Given the description of an element on the screen output the (x, y) to click on. 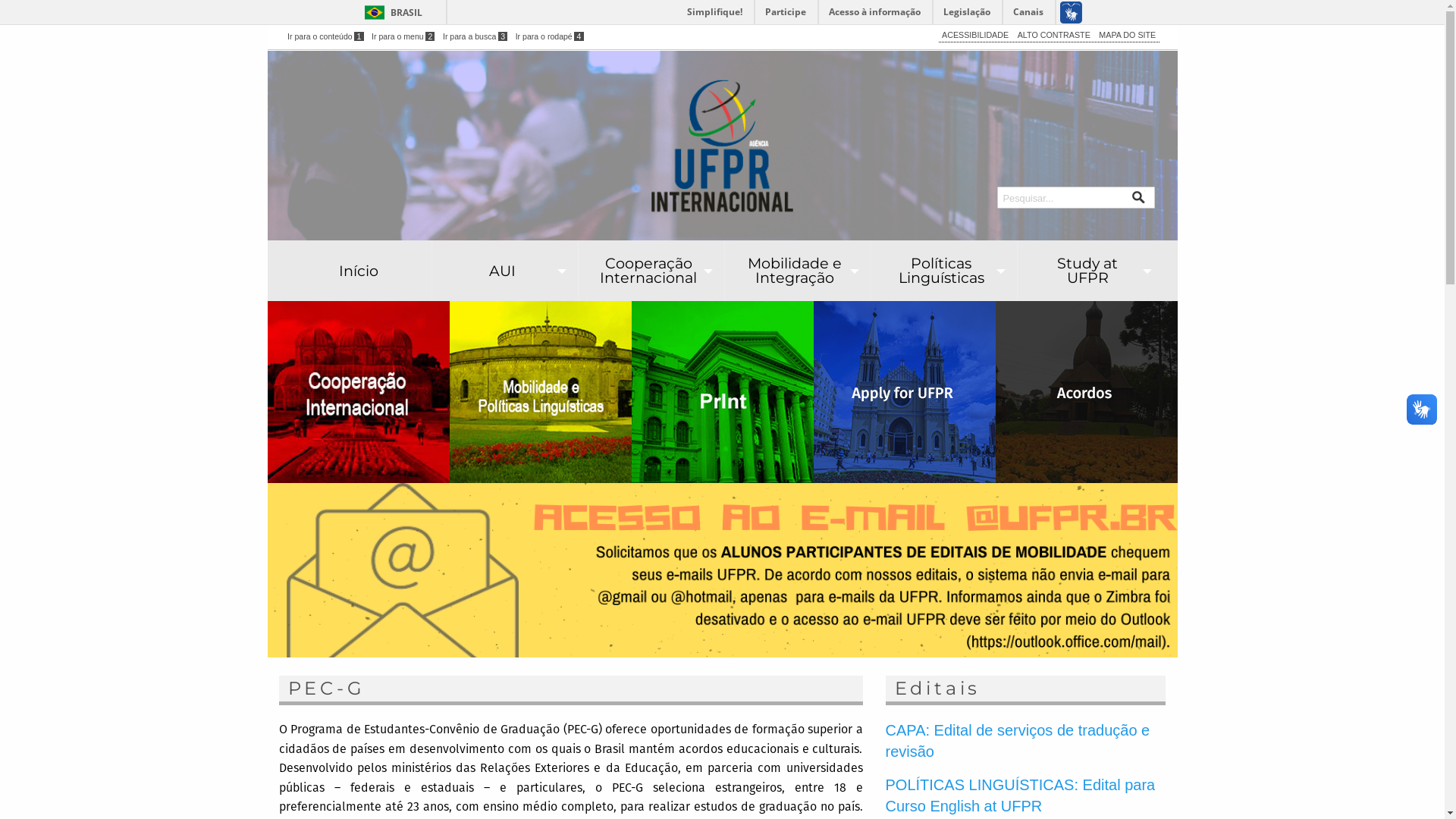
AUI Element type: text (505, 270)
BRASIL Element type: text (389, 12)
Ir para a busca3 Element type: text (475, 36)
Ir para o menu2 Element type: text (403, 36)
MAPA DO SITE Element type: text (1126, 34)
ACESSIBILIDADE Element type: text (975, 34)
ALTO CONTRASTE Element type: text (1053, 34)
Study at UFPR Element type: text (1090, 270)
